Given the description of an element on the screen output the (x, y) to click on. 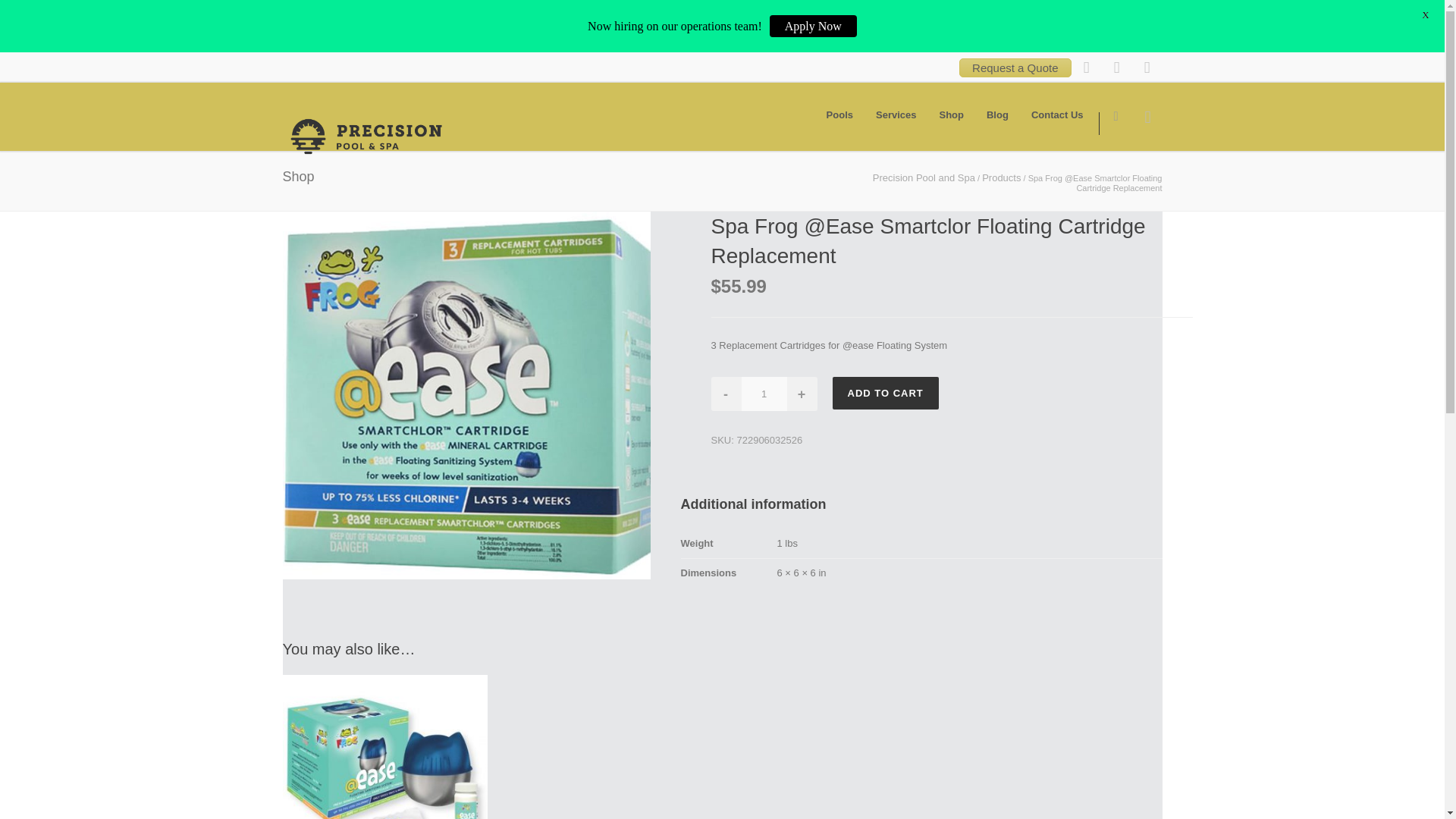
Blog (997, 115)
1 (764, 393)
Instagram (1115, 67)
Pools (839, 115)
Request a Quote (1014, 67)
Shop (951, 115)
YouTube (1146, 67)
- (726, 393)
Facebook (1085, 67)
Services (896, 115)
Products (1000, 177)
Contact Us (1057, 115)
Request a Quote (1014, 67)
Precision Pool and Spa (923, 177)
